Given the description of an element on the screen output the (x, y) to click on. 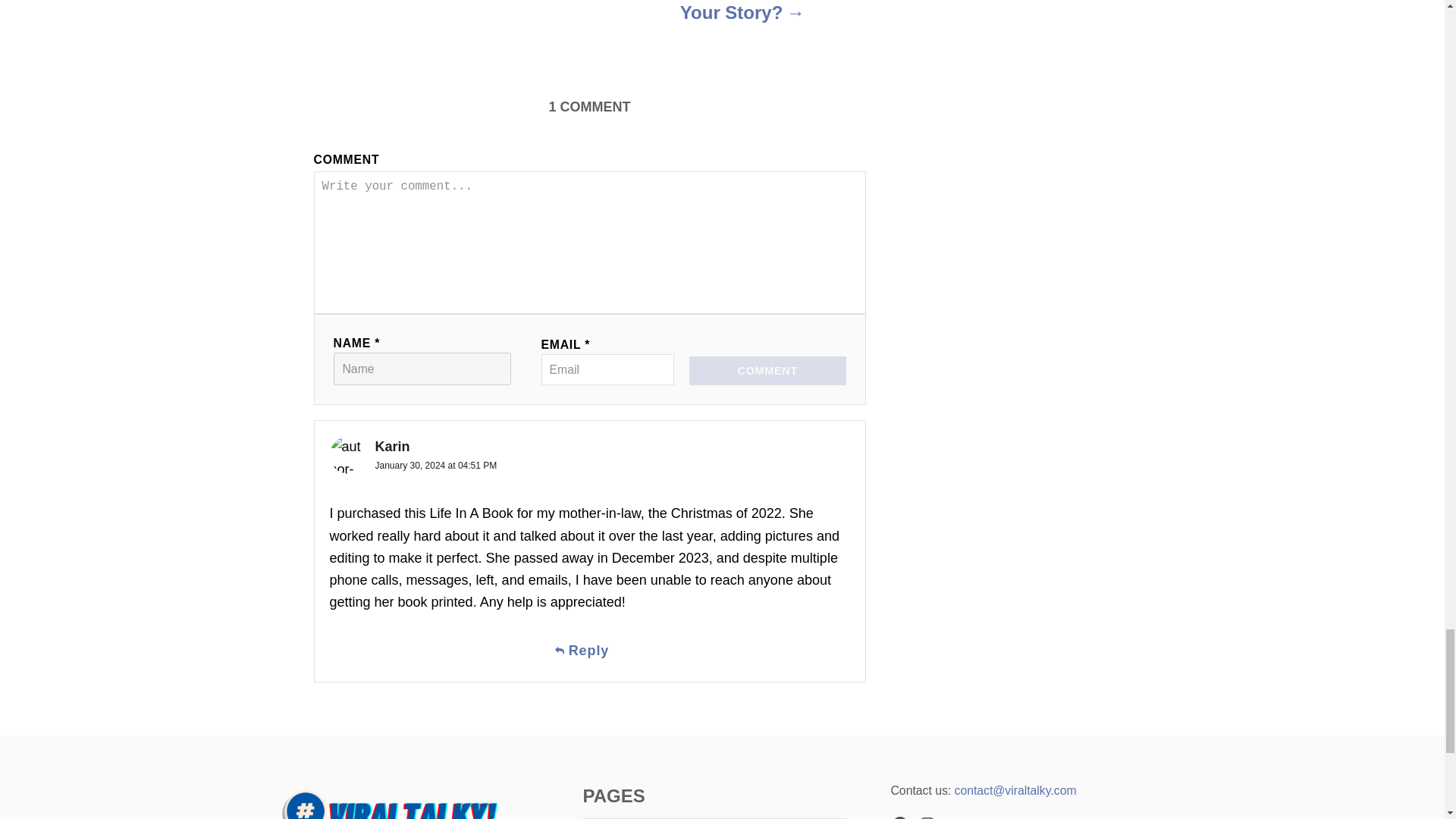
Reply (588, 650)
COMMENT (766, 370)
My Life In A Book vs StoryWorth: Which Fits Your Story? (741, 19)
